Given the description of an element on the screen output the (x, y) to click on. 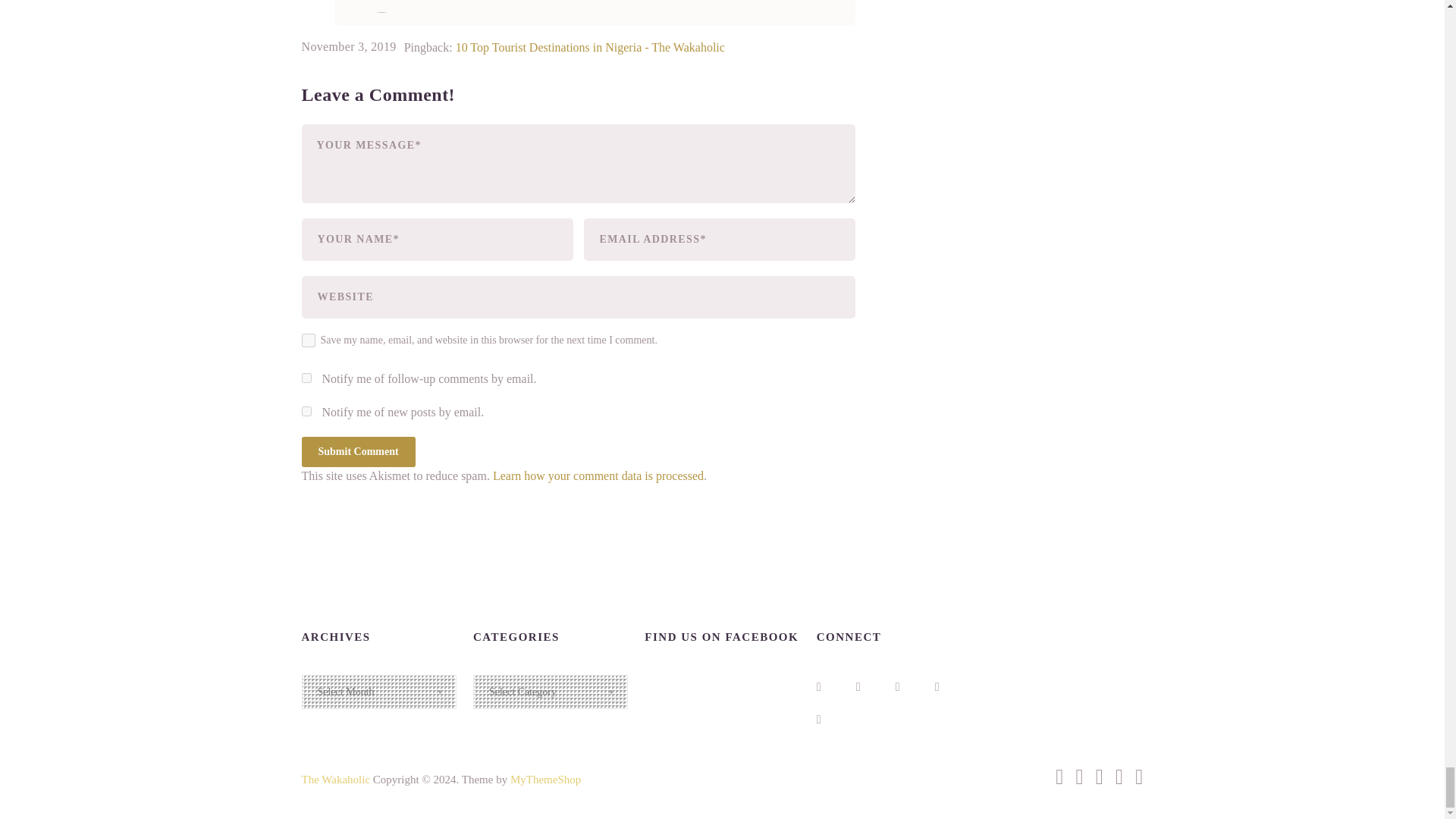
subscribe (306, 411)
yes (308, 340)
subscribe (306, 378)
Submit Comment (357, 451)
